Given the description of an element on the screen output the (x, y) to click on. 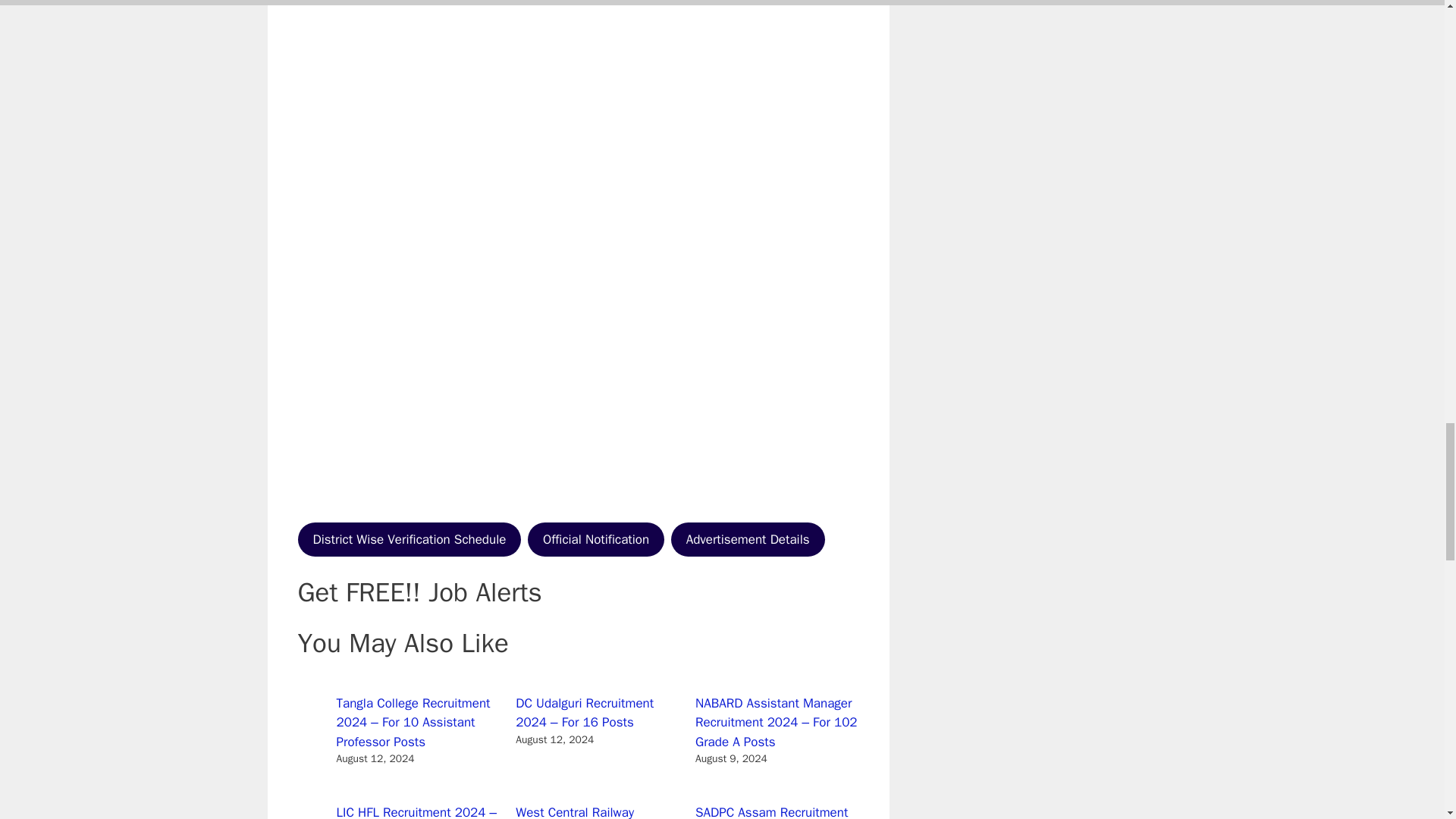
Advertisement Details (748, 539)
Official Notification (595, 539)
District Wise Verification Schedule (409, 539)
